Given the description of an element on the screen output the (x, y) to click on. 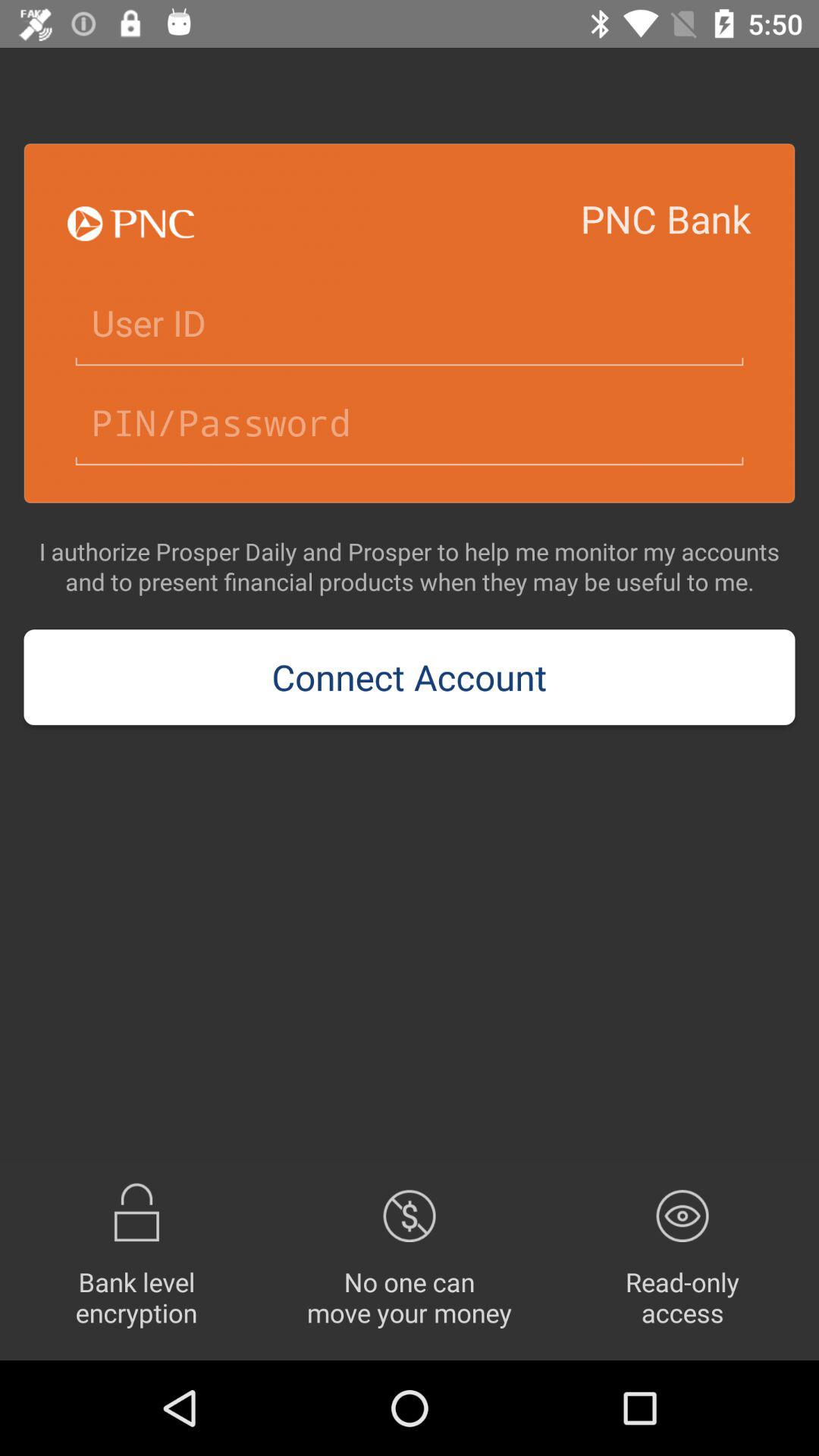
enter password (409, 423)
